Given the description of an element on the screen output the (x, y) to click on. 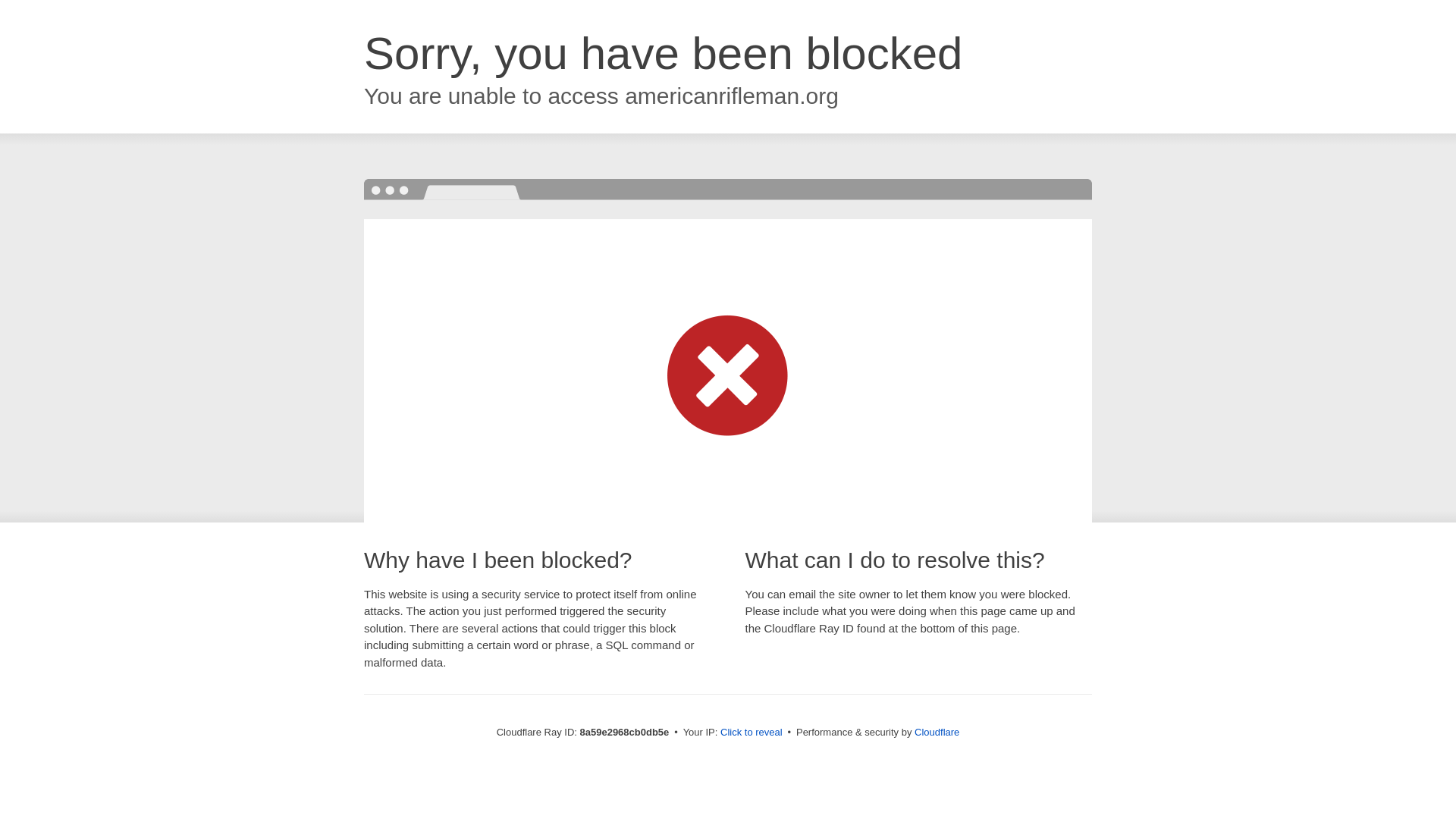
Cloudflare (936, 731)
Click to reveal (751, 732)
